Given the description of an element on the screen output the (x, y) to click on. 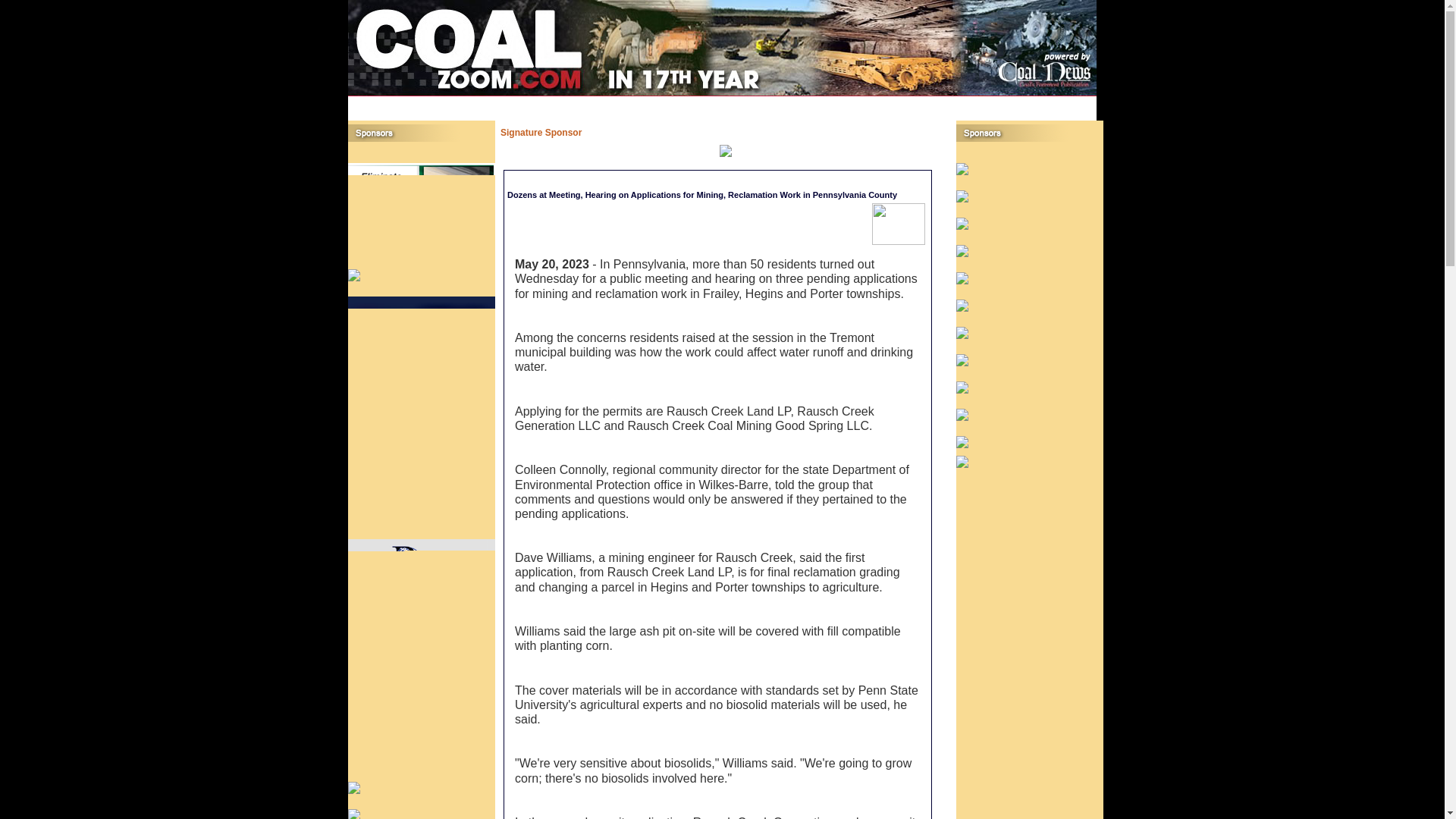
About us (680, 102)
Articles (627, 102)
Video (753, 102)
Coal Calendar (893, 102)
Newsletter subscription (1040, 102)
Previous Articles (627, 102)
Coal Calendar (893, 102)
Interviews (844, 102)
Video (753, 102)
Ad Rates (720, 102)
On The Move (949, 102)
On The Move (949, 102)
Advertising rates (720, 102)
About Us (680, 102)
Subscribe (1040, 102)
